Given the description of an element on the screen output the (x, y) to click on. 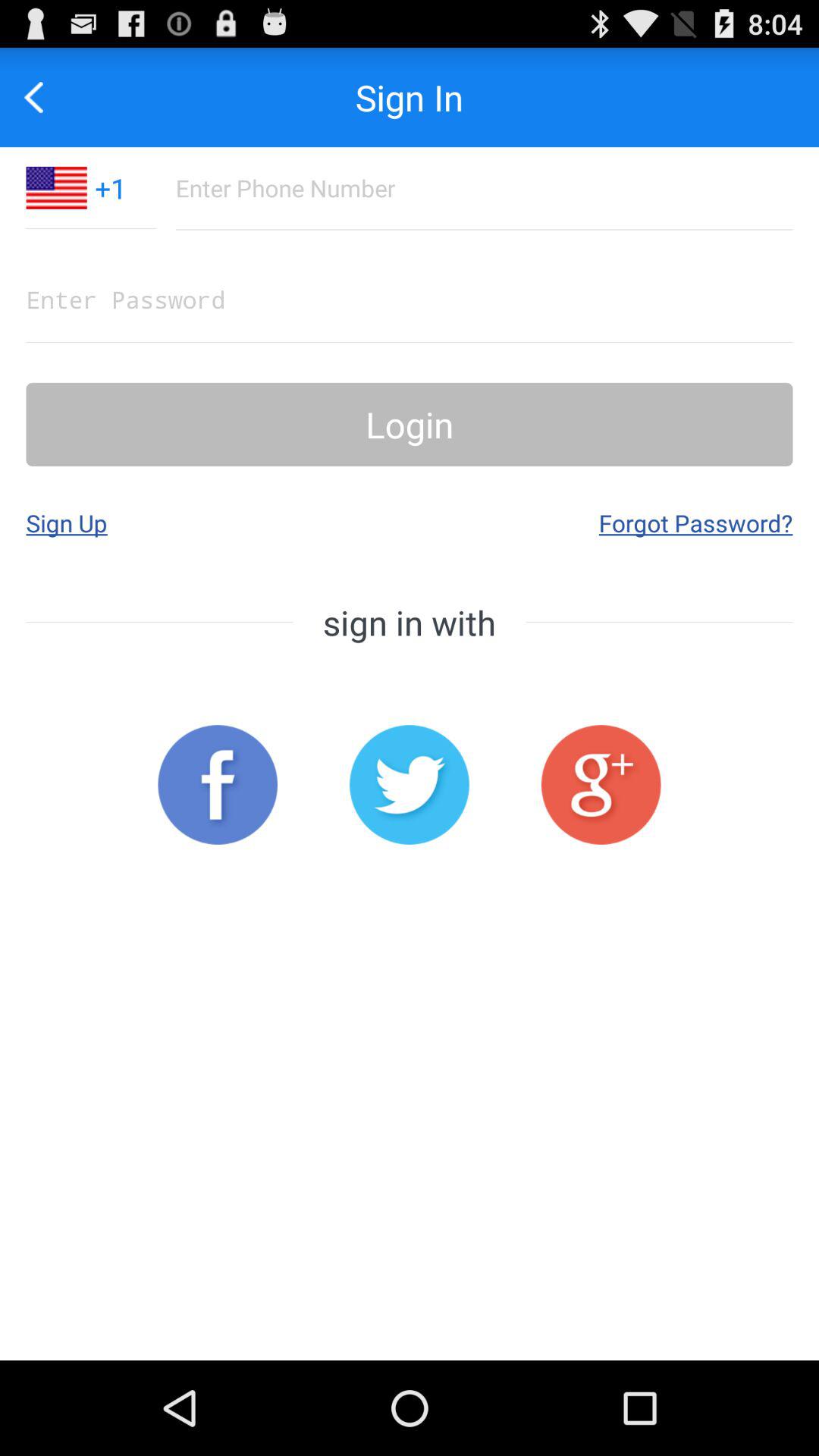
twitter icon (409, 784)
